Given the description of an element on the screen output the (x, y) to click on. 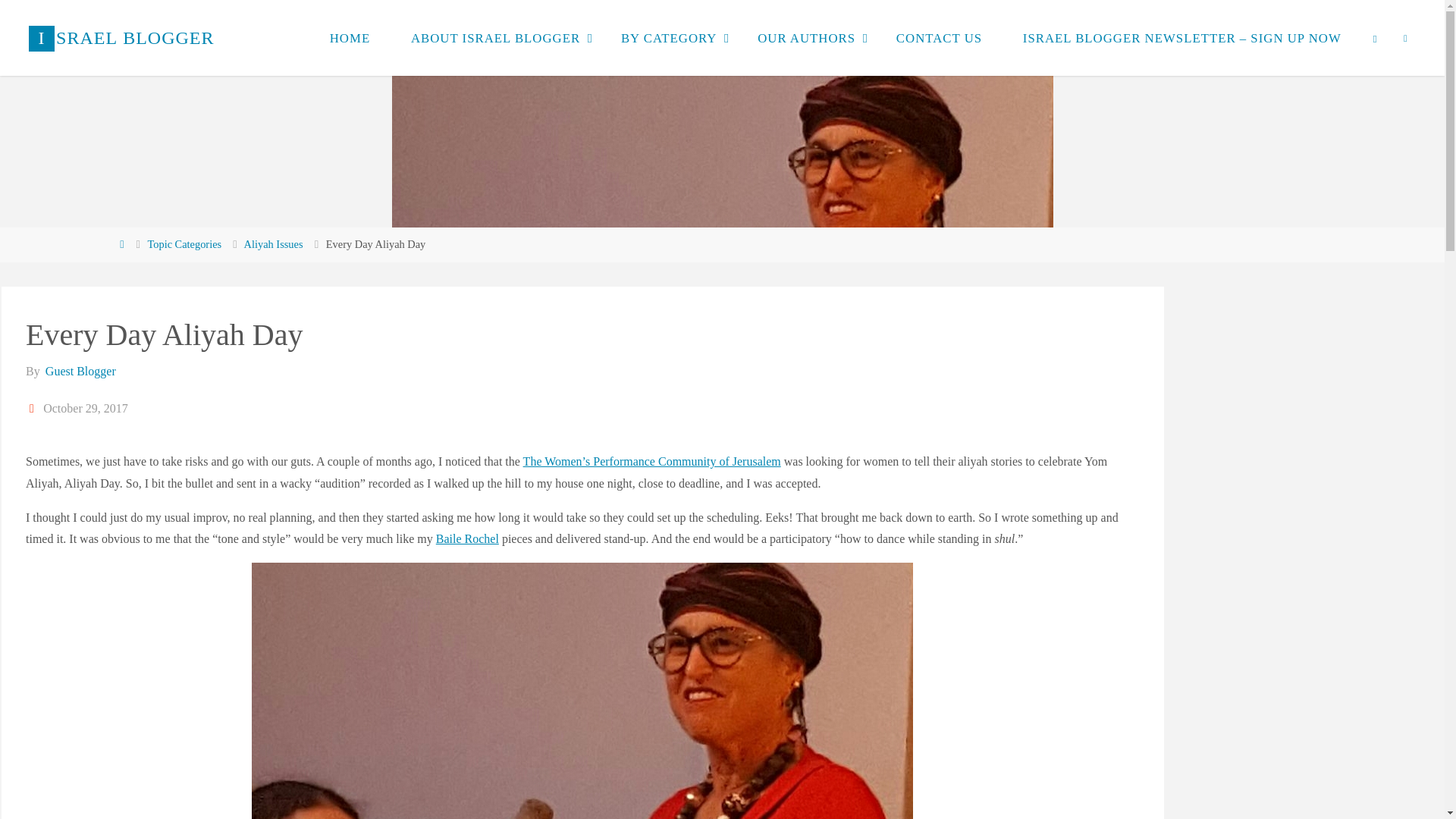
The collective voice that is Israel (121, 37)
View all posts by Guest Blogger (79, 370)
Date (33, 408)
ISRAEL BLOGGER (121, 37)
